Given the description of an element on the screen output the (x, y) to click on. 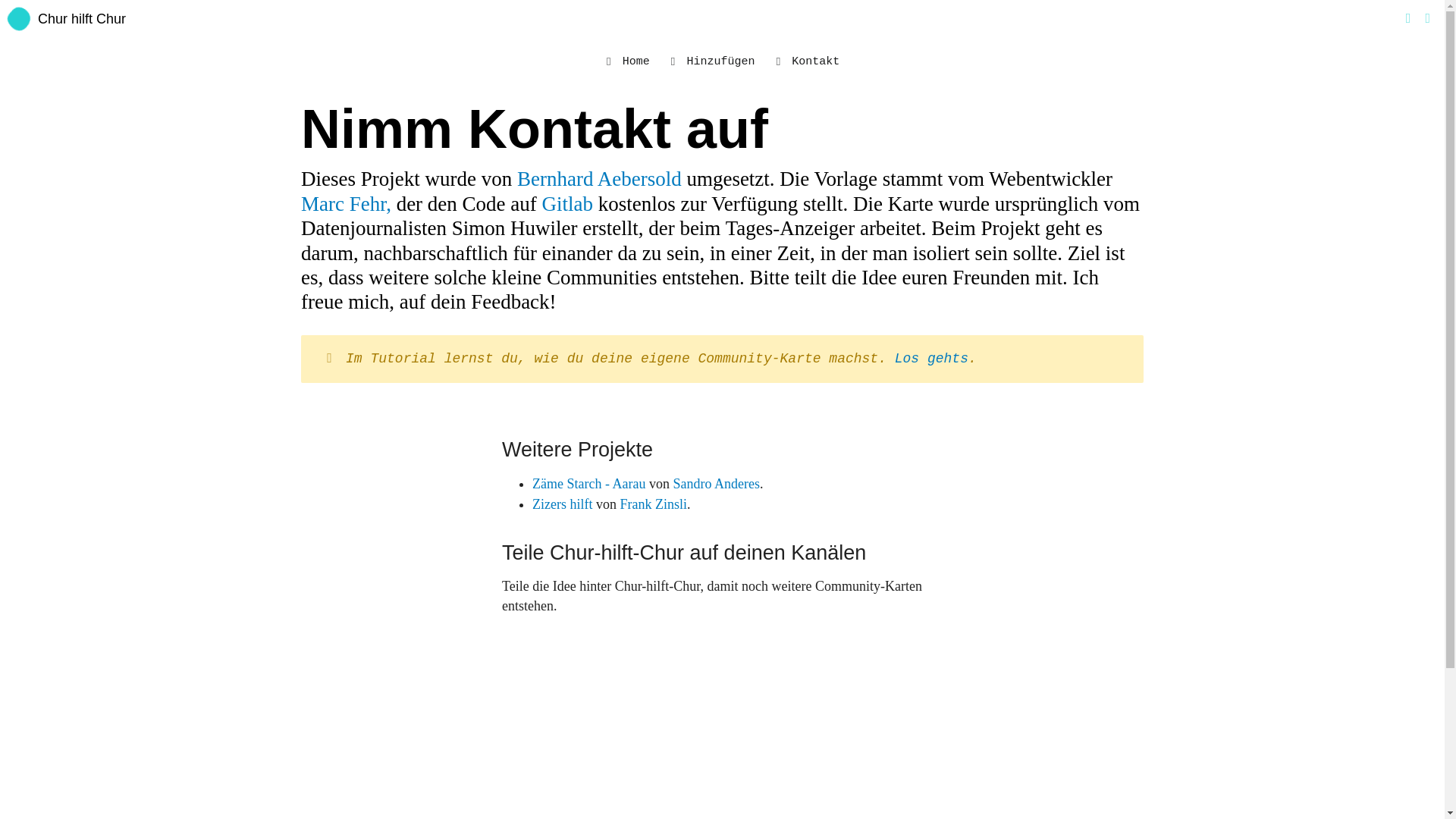
Los gehts Element type: text (931, 358)
Home Element type: text (625, 60)
Kontakt Element type: text (805, 60)
Frank Zinsli Element type: text (653, 503)
Gitlab Element type: text (567, 203)
Bernhard Aebersold Element type: text (599, 178)
Marc Fehr, Element type: text (346, 203)
Zizers hilft Element type: text (562, 503)
Sandro Anderes Element type: text (715, 483)
